Given the description of an element on the screen output the (x, y) to click on. 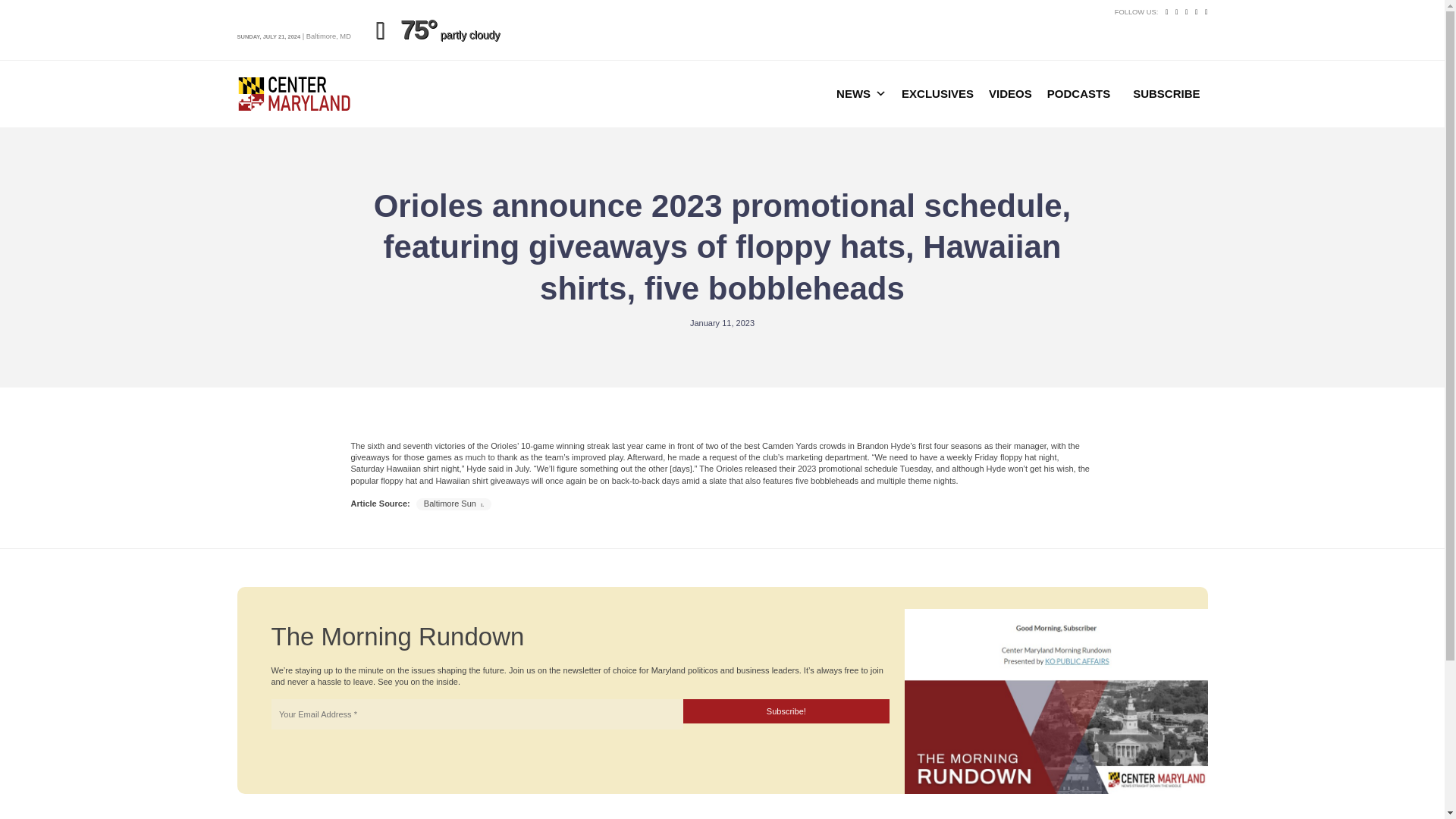
Baltimore Sun (454, 503)
VIDEOS (1010, 93)
PODCASTS (1078, 93)
SUBSCRIBE (1166, 93)
EXCLUSIVES (937, 93)
Subscribe! (785, 711)
Subscribe! (785, 711)
NEWS (860, 93)
Your Email Address (476, 714)
